Given the description of an element on the screen output the (x, y) to click on. 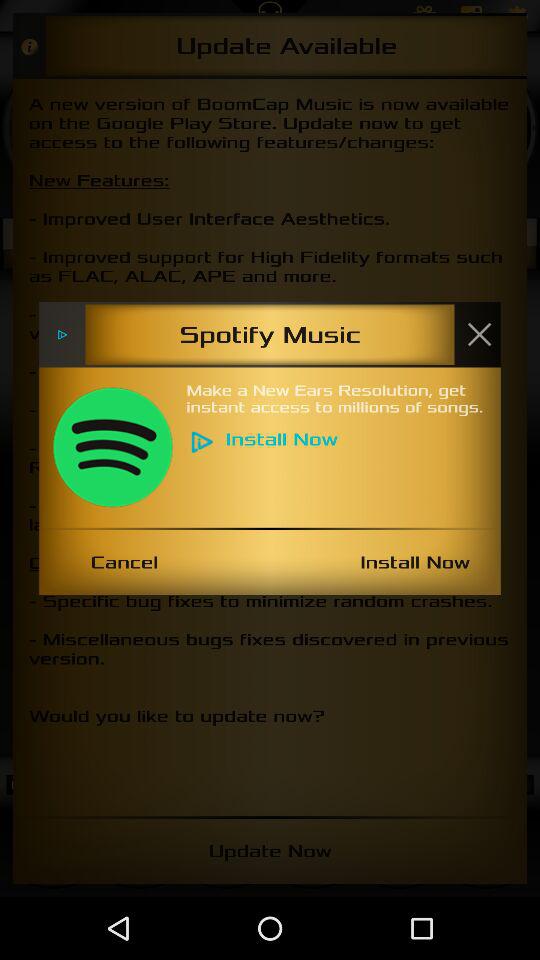
press icon to the left of install now icon (124, 562)
